Given the description of an element on the screen output the (x, y) to click on. 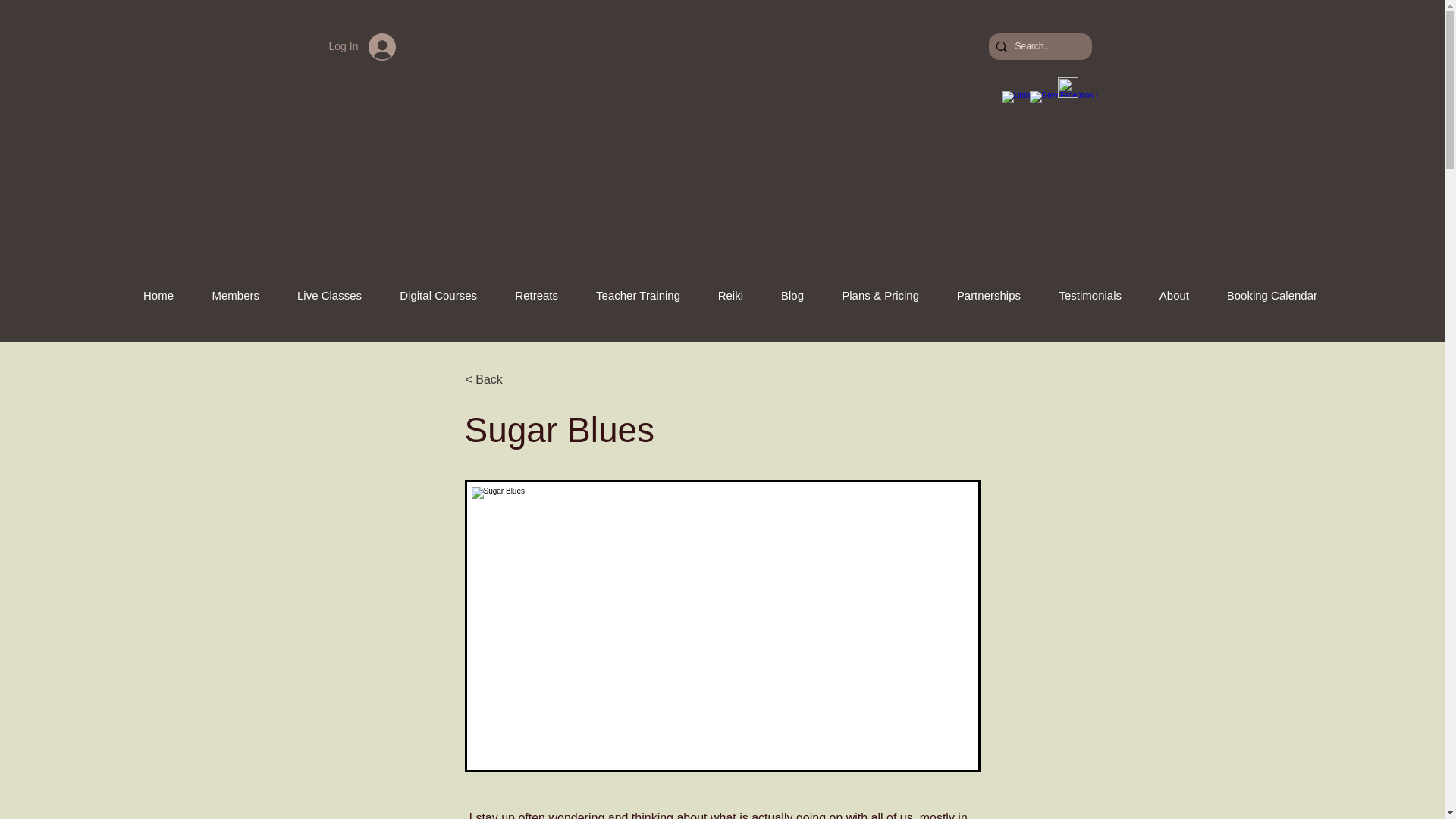
Home (150, 295)
Partnerships (981, 295)
Blog (784, 295)
Booking Calendar (1263, 295)
Live Classes (321, 295)
Testimonials (1082, 295)
Teacher Training (630, 295)
Digital Courses (429, 295)
Reiki (722, 295)
Retreats (528, 295)
